Given the description of an element on the screen output the (x, y) to click on. 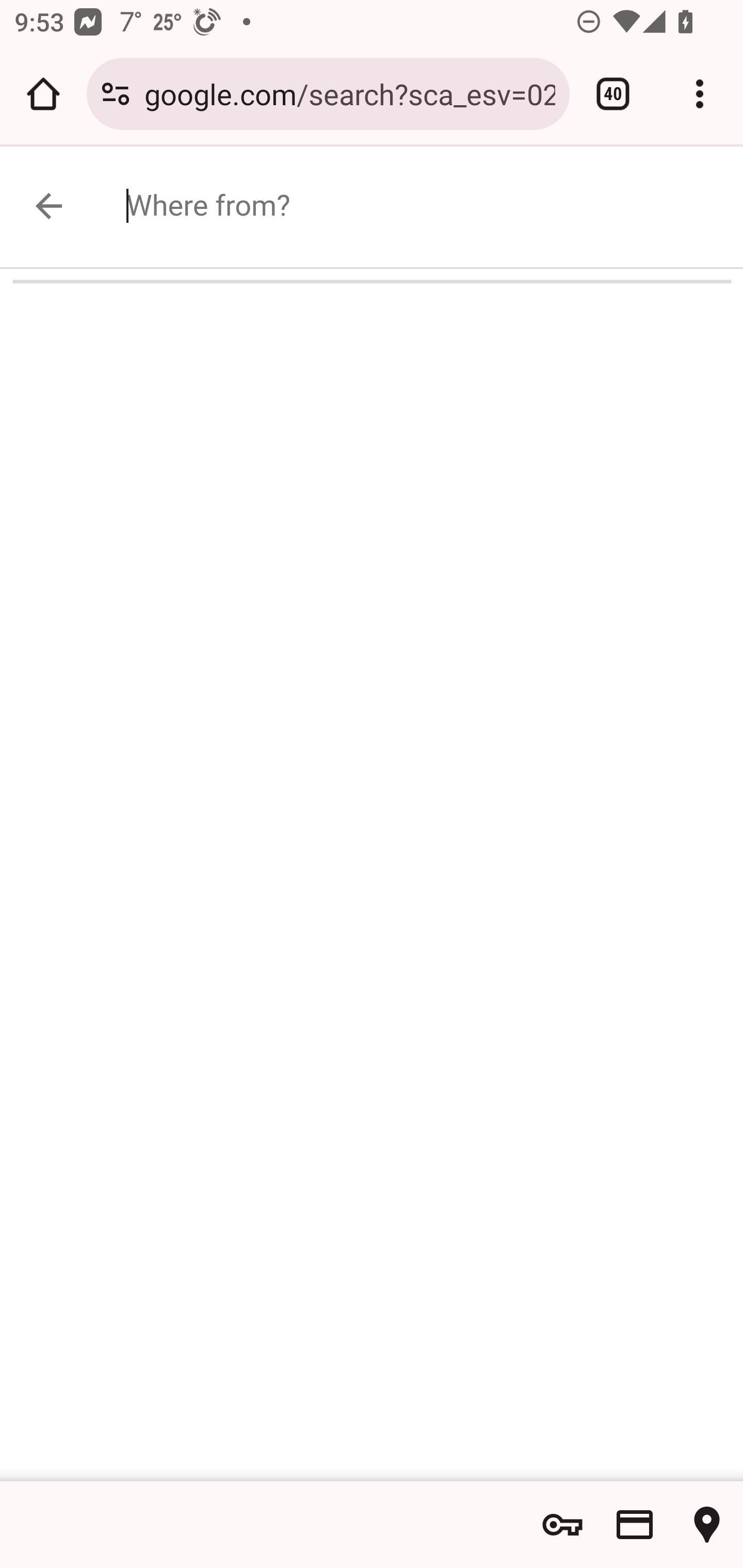
Open the home page (43, 93)
Connection is secure (115, 93)
Switch or close tabs (612, 93)
Customize and control Google Chrome (699, 93)
Back (70, 205)
Show saved passwords and password options (562, 1524)
Show saved payment methods (634, 1524)
Show saved addresses (706, 1524)
